Given the description of an element on the screen output the (x, y) to click on. 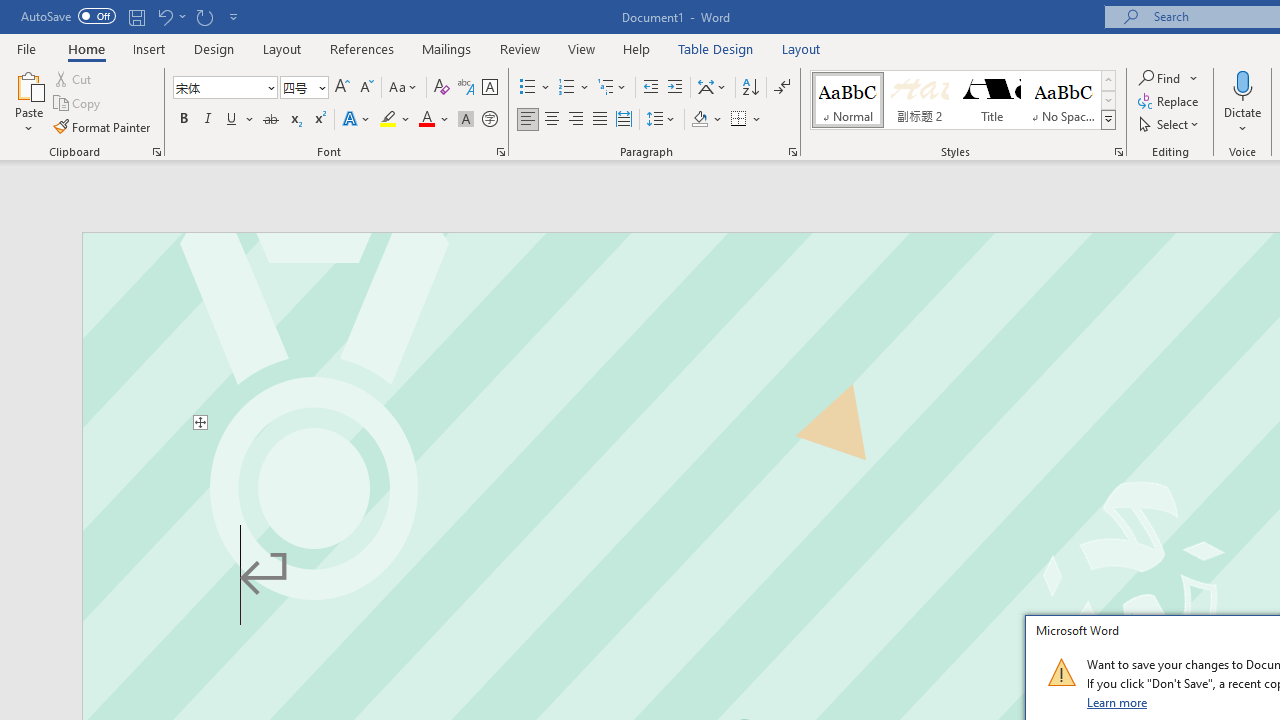
Undo Text Fill Effect (170, 15)
Undo Text Fill Effect (164, 15)
